Given the description of an element on the screen output the (x, y) to click on. 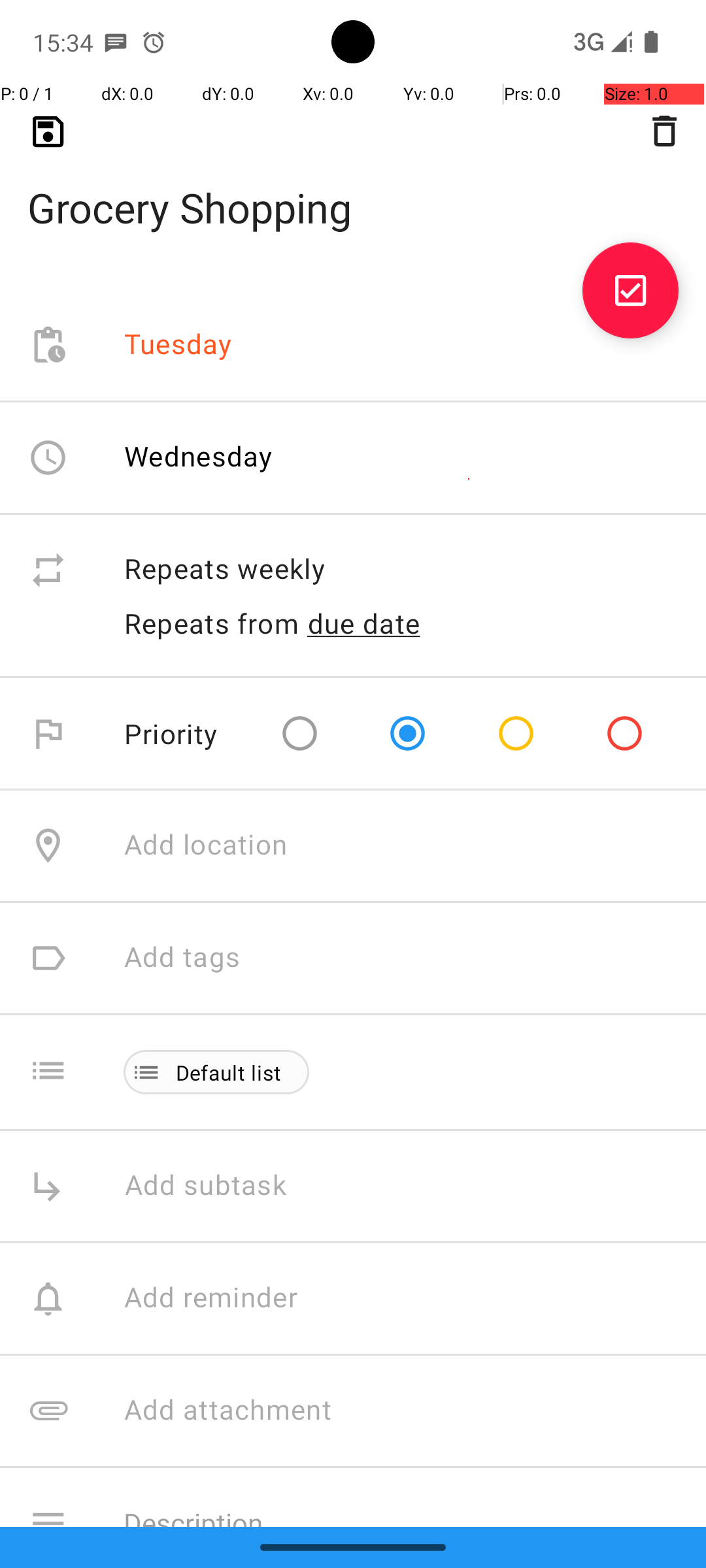
Repeats weekly Element type: android.widget.TextView (400, 569)
Repeats from Element type: android.widget.TextView (211, 622)
due date Element type: android.widget.TextView (363, 623)
